Given the description of an element on the screen output the (x, y) to click on. 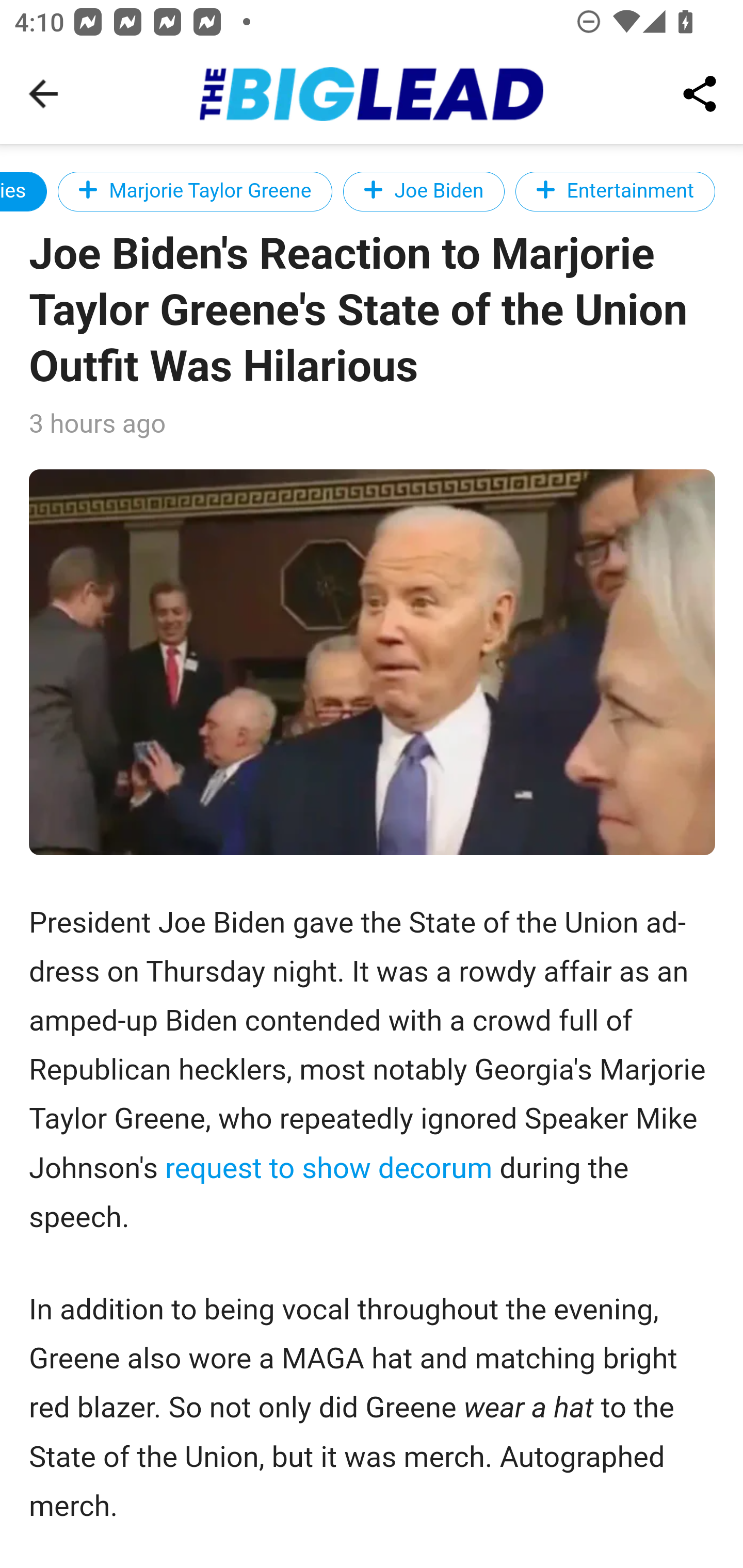
Marjorie Taylor Greene (195, 191)
Joe Biden (424, 191)
Entertainment (615, 191)
request to show decorum (328, 1167)
